Given the description of an element on the screen output the (x, y) to click on. 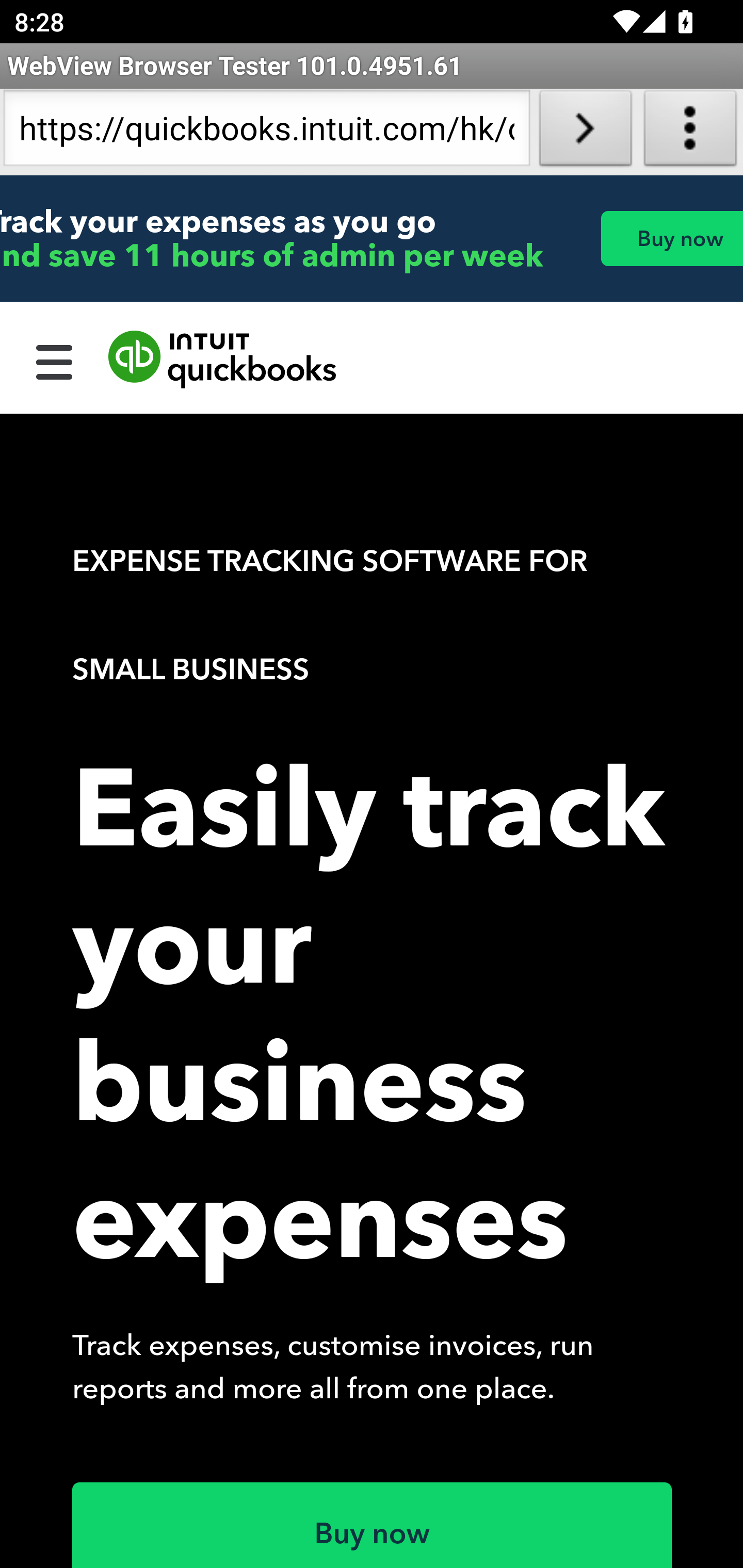
Load URL (585, 132)
About WebView (690, 132)
Buy now (671, 238)
quickbooks-mobile-burger (54, 359)
quickbooks (222, 359)
Buy now (372, 1524)
